Given the description of an element on the screen output the (x, y) to click on. 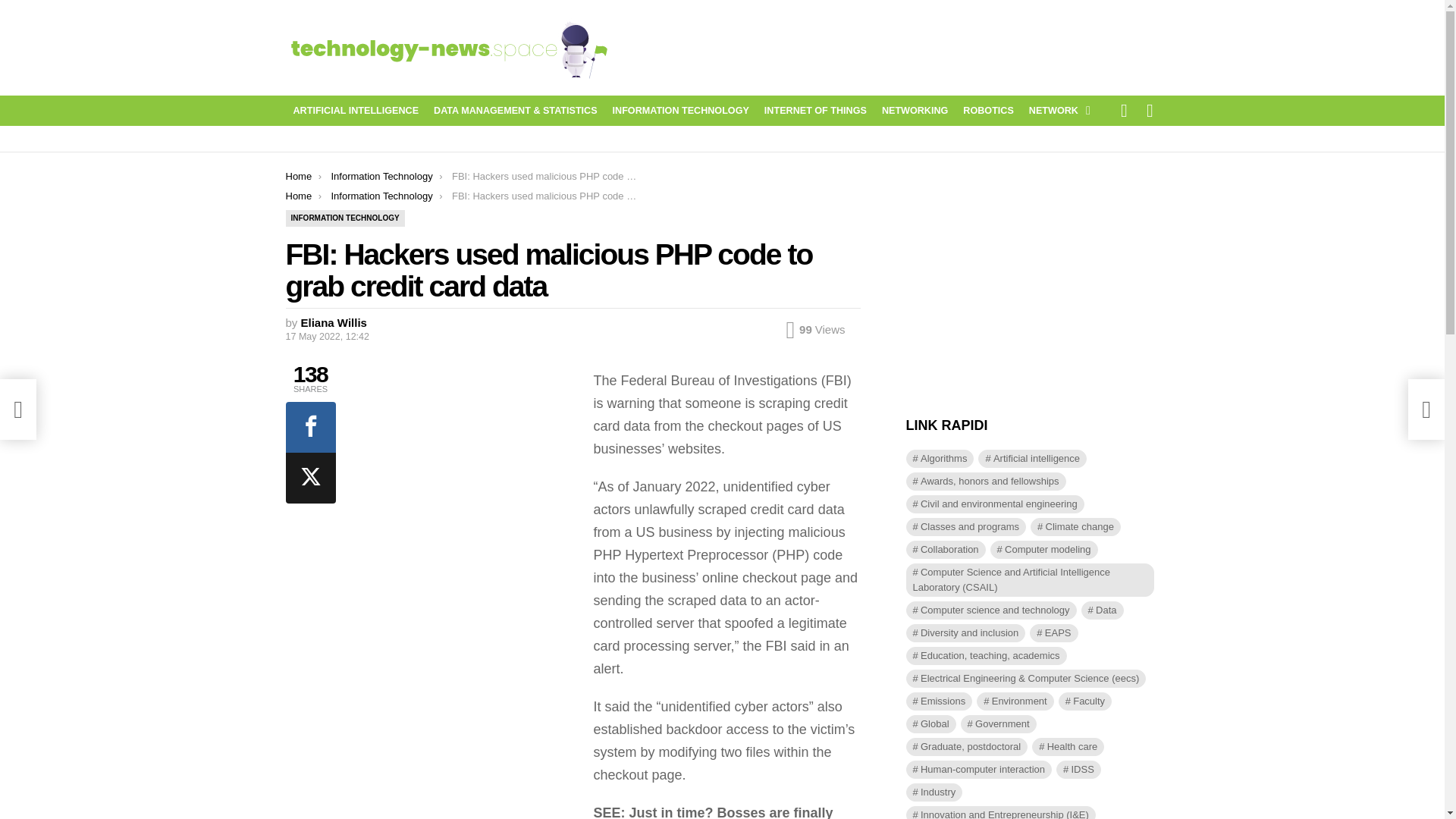
Posts by Eliana Willis (333, 322)
INTERNET OF THINGS (816, 110)
INFORMATION TECHNOLOGY (681, 110)
NETWORKING (915, 110)
ROBOTICS (987, 110)
NETWORK (1056, 110)
ARTIFICIAL INTELLIGENCE (355, 110)
